Given the description of an element on the screen output the (x, y) to click on. 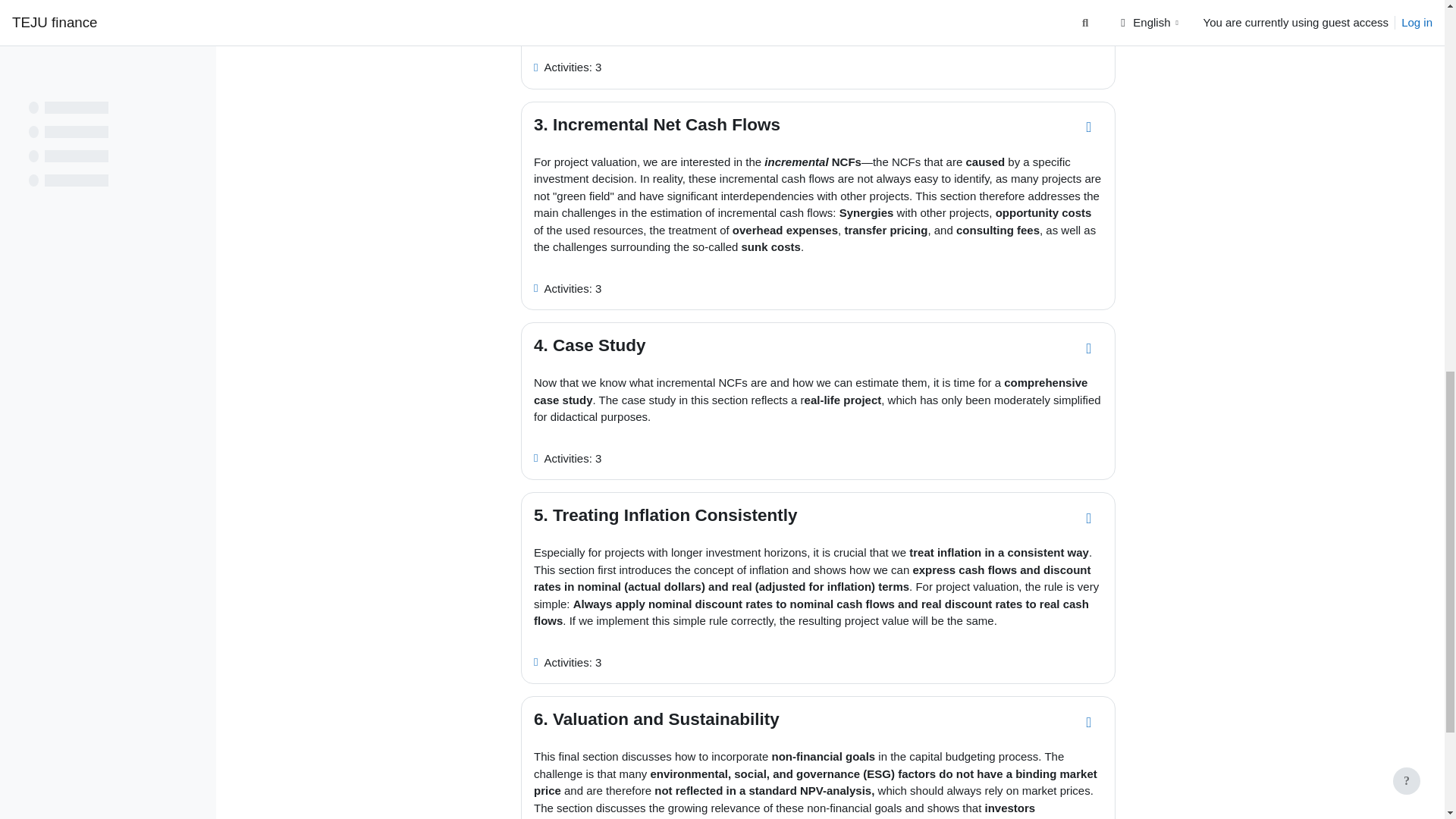
Go to section 6. Valuation and Sustainability (1088, 722)
Go to section 6. Valuation and Sustainability (1088, 722)
3. Incremental Net Cash Flows (657, 124)
6. Valuation and Sustainability (656, 719)
Go to section 3. Incremental Net Cash Flows (1088, 126)
Go to section 5. Treating Inflation Consistently (1088, 518)
Go to section 3. Incremental Net Cash Flows (1088, 126)
Go to section 4. Case Study (1088, 348)
5. Treating Inflation Consistently (665, 515)
Go to section 4. Case Study (1088, 348)
